Given the description of an element on the screen output the (x, y) to click on. 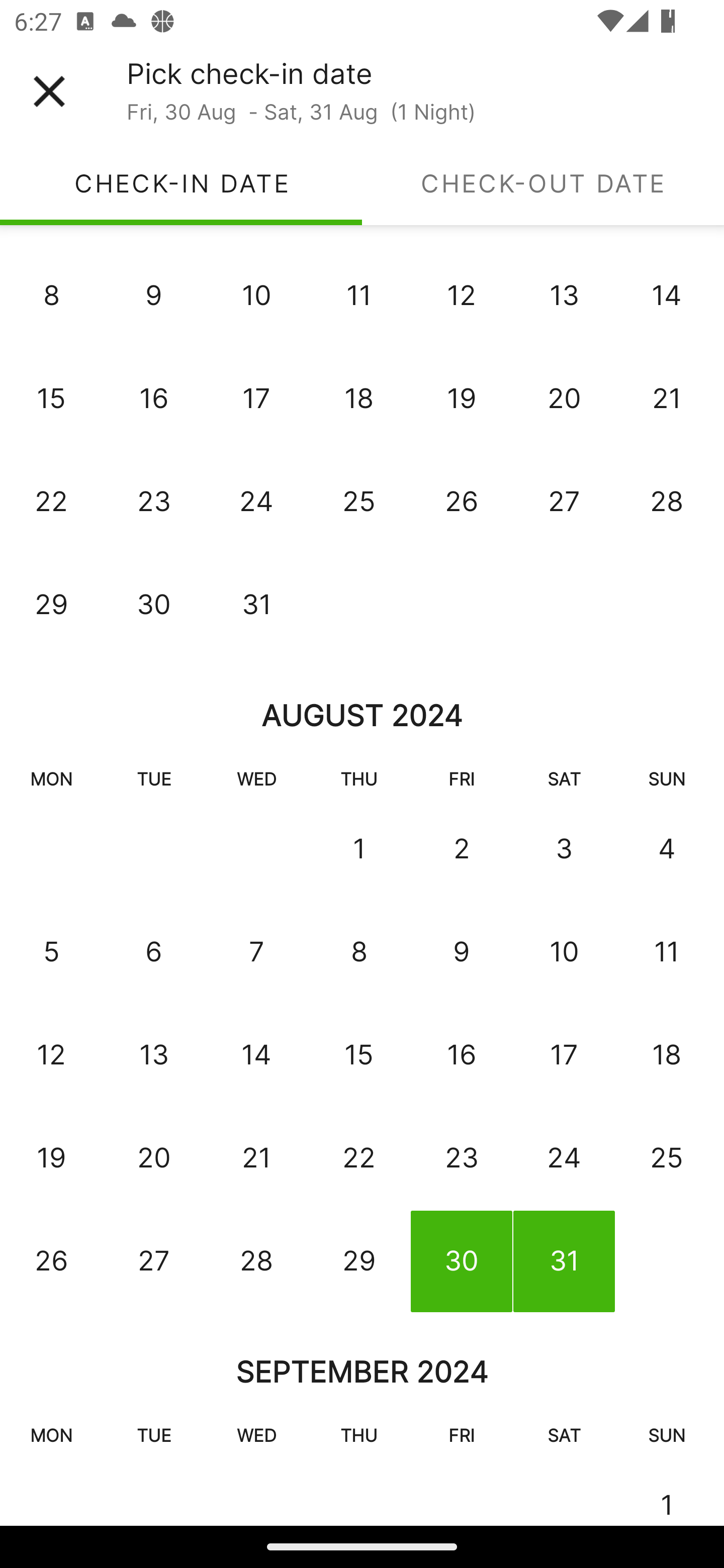
Check-out Date CHECK-OUT DATE (543, 183)
